Given the description of an element on the screen output the (x, y) to click on. 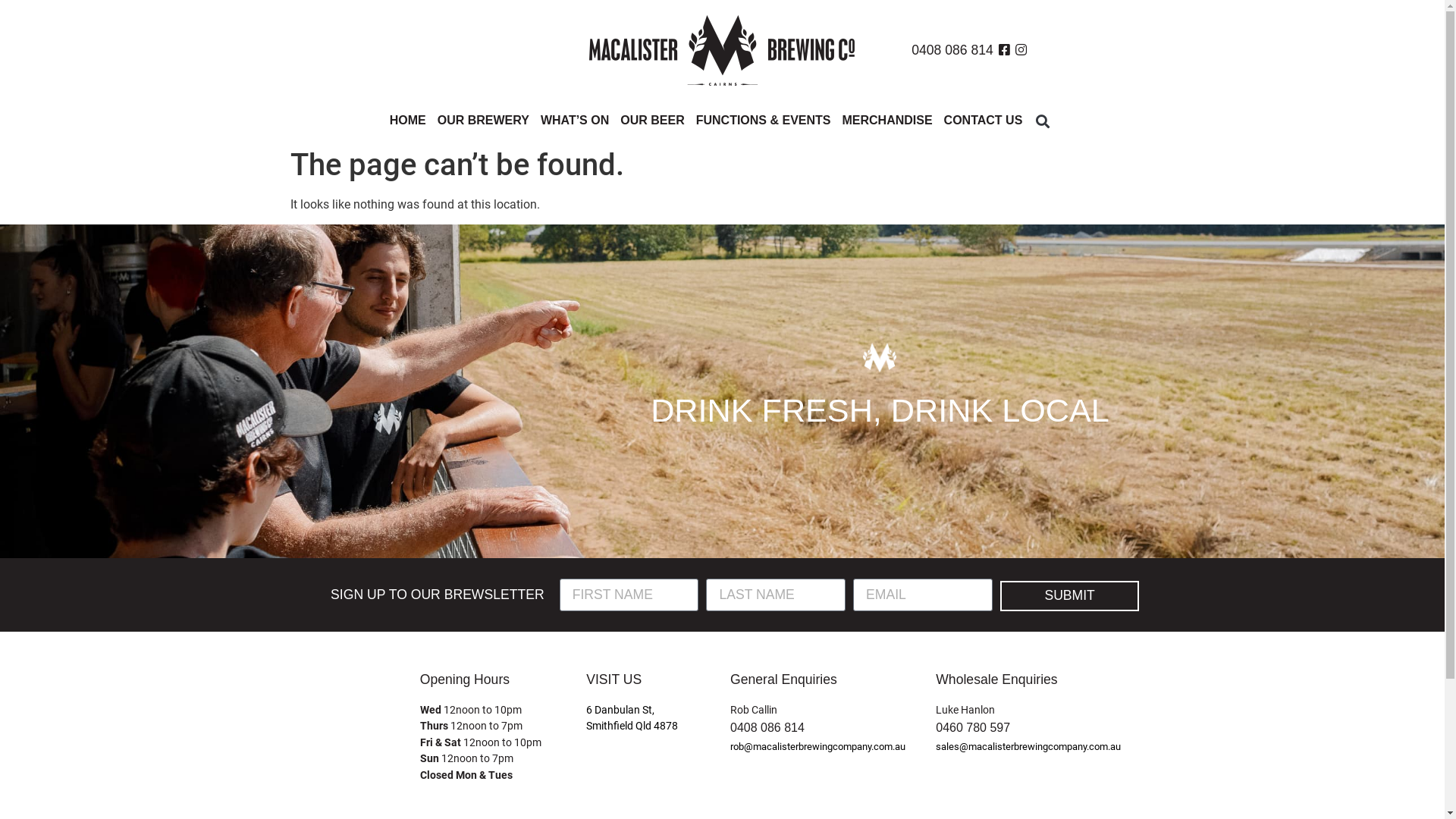
OUR BREWERY Element type: text (483, 120)
sales@macalisterbrewingcompany.com.au Element type: text (1027, 746)
0408 086 814 Element type: text (952, 49)
0408 086 814 Element type: text (767, 727)
FUNCTIONS & EVENTS Element type: text (763, 120)
CONTACT US Element type: text (983, 120)
HOME Element type: text (407, 120)
MERCHANDISE Element type: text (886, 120)
rob@macalisterbrewingcompany.com.au Element type: text (817, 746)
Smithfield Qld 4878 Element type: text (631, 725)
SUBMIT Element type: text (1069, 595)
0460 780 597 Element type: text (972, 727)
6 Danbulan St, Element type: text (620, 709)
OUR BEER Element type: text (652, 120)
